Given the description of an element on the screen output the (x, y) to click on. 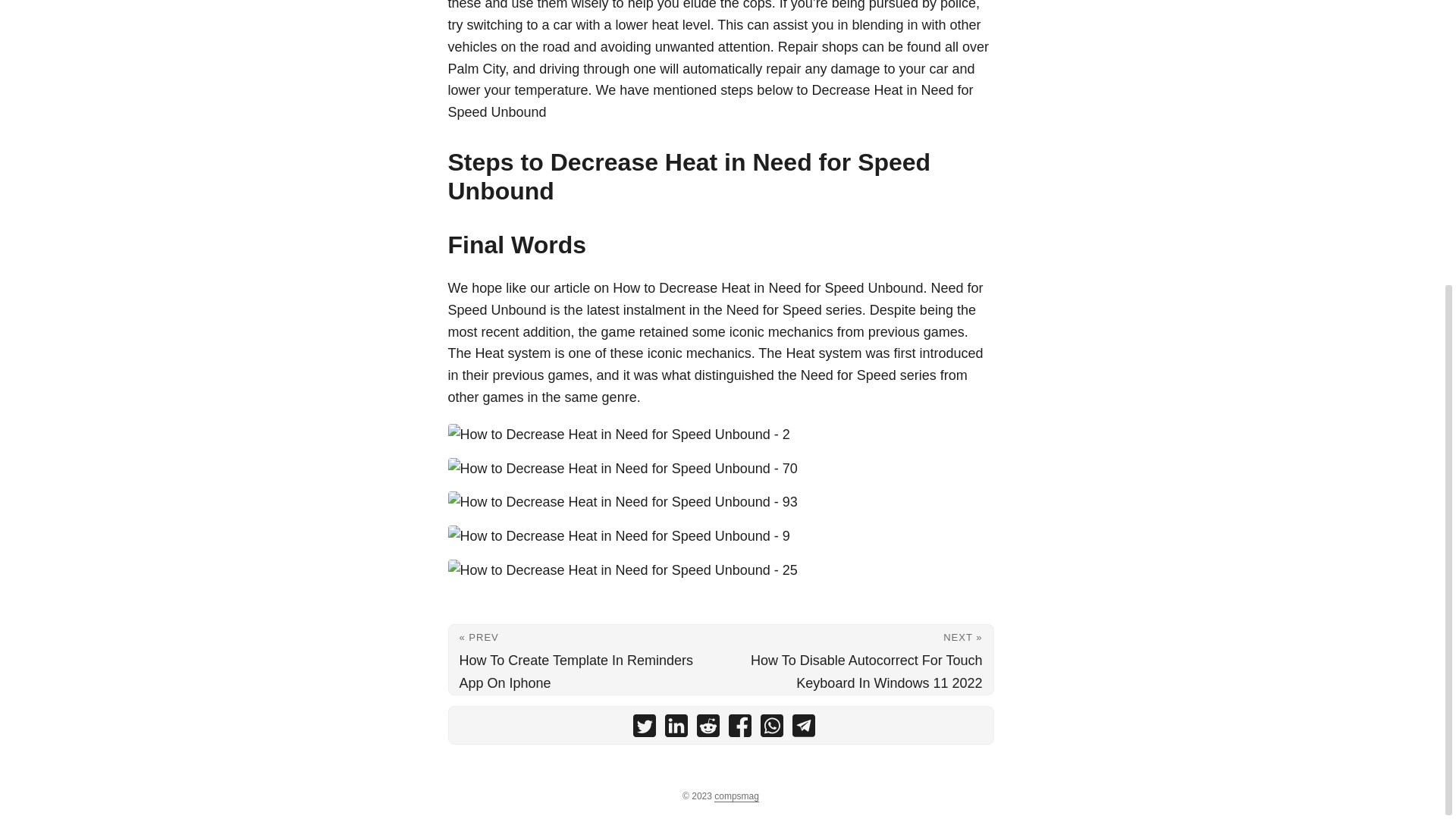
compsmag (736, 796)
